Given the description of an element on the screen output the (x, y) to click on. 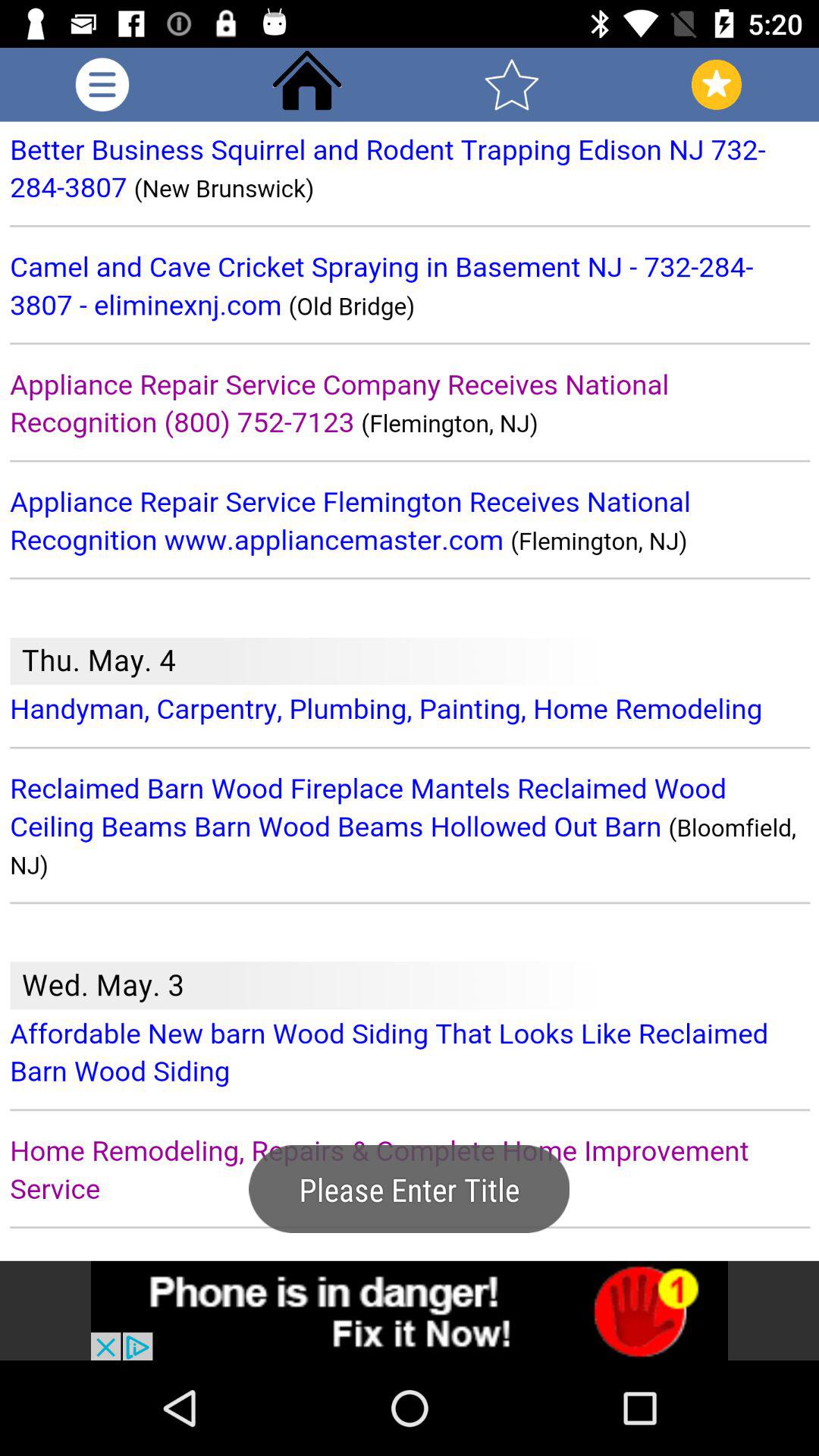
save to favorites (511, 84)
